Given the description of an element on the screen output the (x, y) to click on. 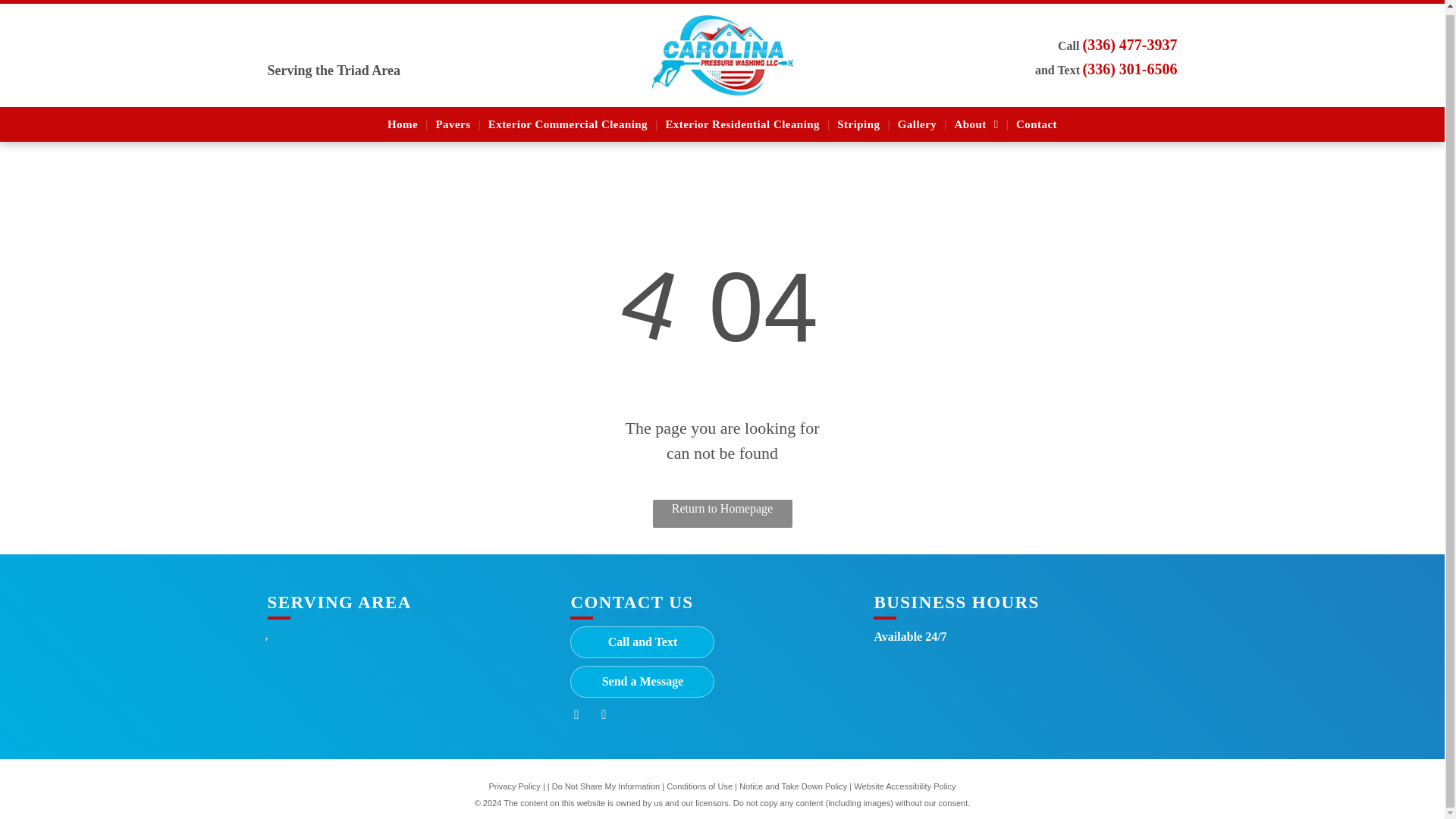
Exterior Commercial Cleaning (567, 120)
Exterior Residential Cleaning (742, 120)
Contact (1036, 120)
Striping (857, 120)
Conditions of Use (699, 786)
Return to Homepage (722, 513)
Call and Text (642, 642)
Privacy Policy (513, 786)
Pavers (452, 120)
Notice and Take Down Policy (793, 786)
Website Accessibility Policy (904, 786)
Home (402, 120)
About (976, 120)
Gallery (916, 120)
Send a Message (642, 681)
